Given the description of an element on the screen output the (x, y) to click on. 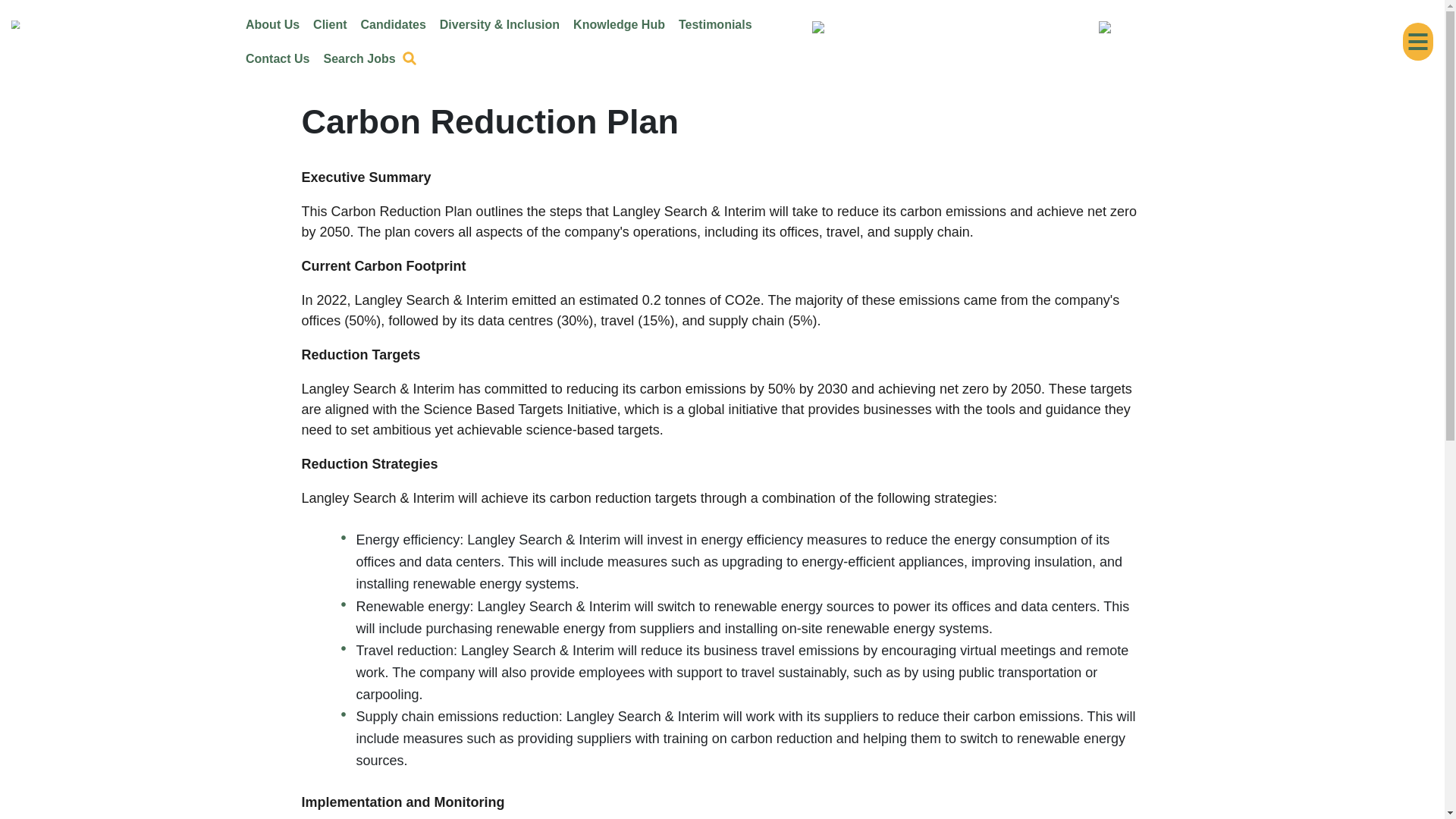
About Us (271, 24)
